Given the description of an element on the screen output the (x, y) to click on. 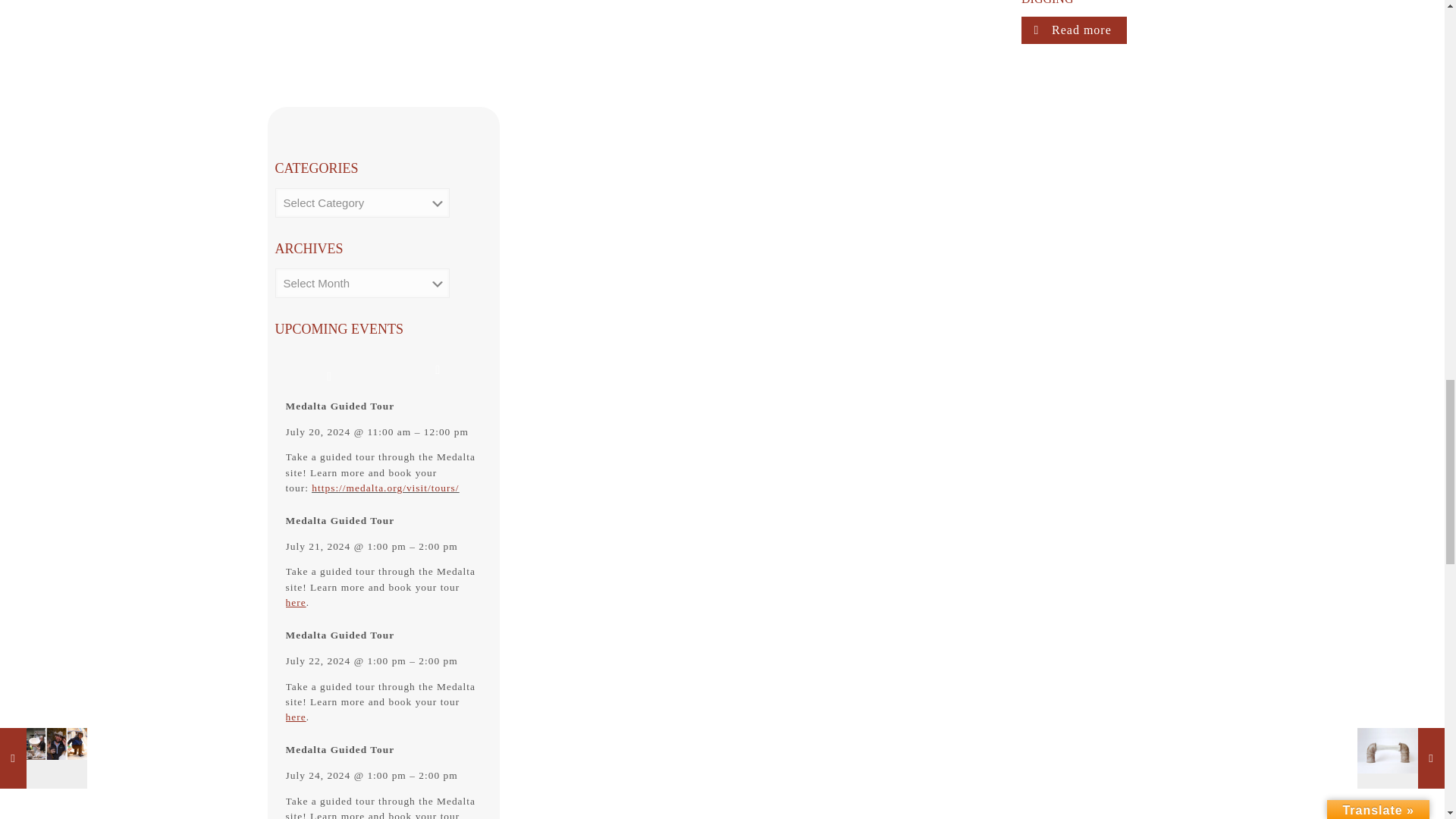
Next (438, 369)
Previous (328, 370)
